Given the description of an element on the screen output the (x, y) to click on. 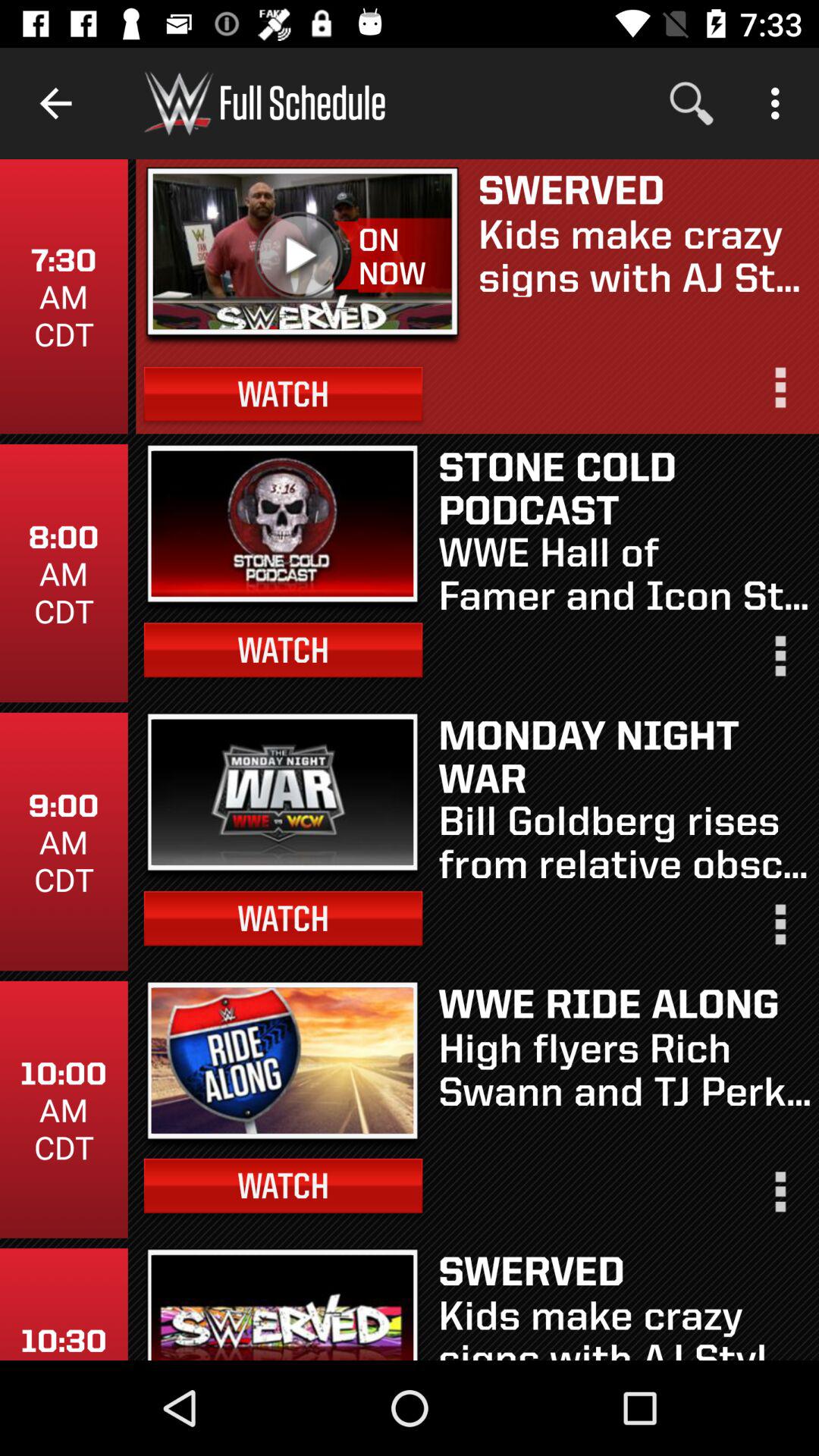
jump until the monday night war item (624, 754)
